Given the description of an element on the screen output the (x, y) to click on. 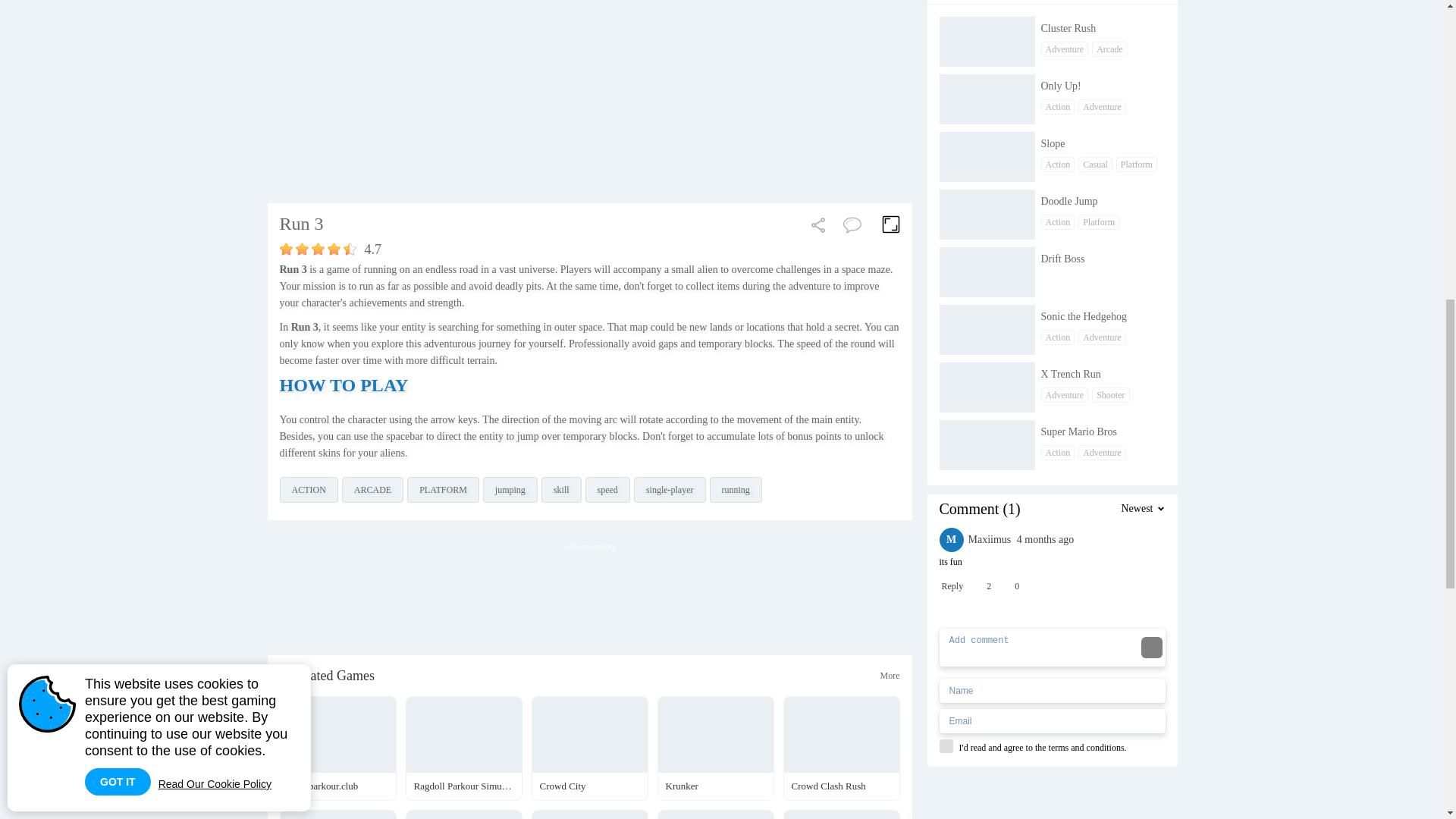
gorgeous (349, 249)
single-player (669, 489)
bad (285, 249)
speed (607, 489)
Advertisement (380, 85)
skill (560, 489)
jumping (510, 489)
Crowd City (589, 748)
Boat Rush (1055, 566)
